Given the description of an element on the screen output the (x, y) to click on. 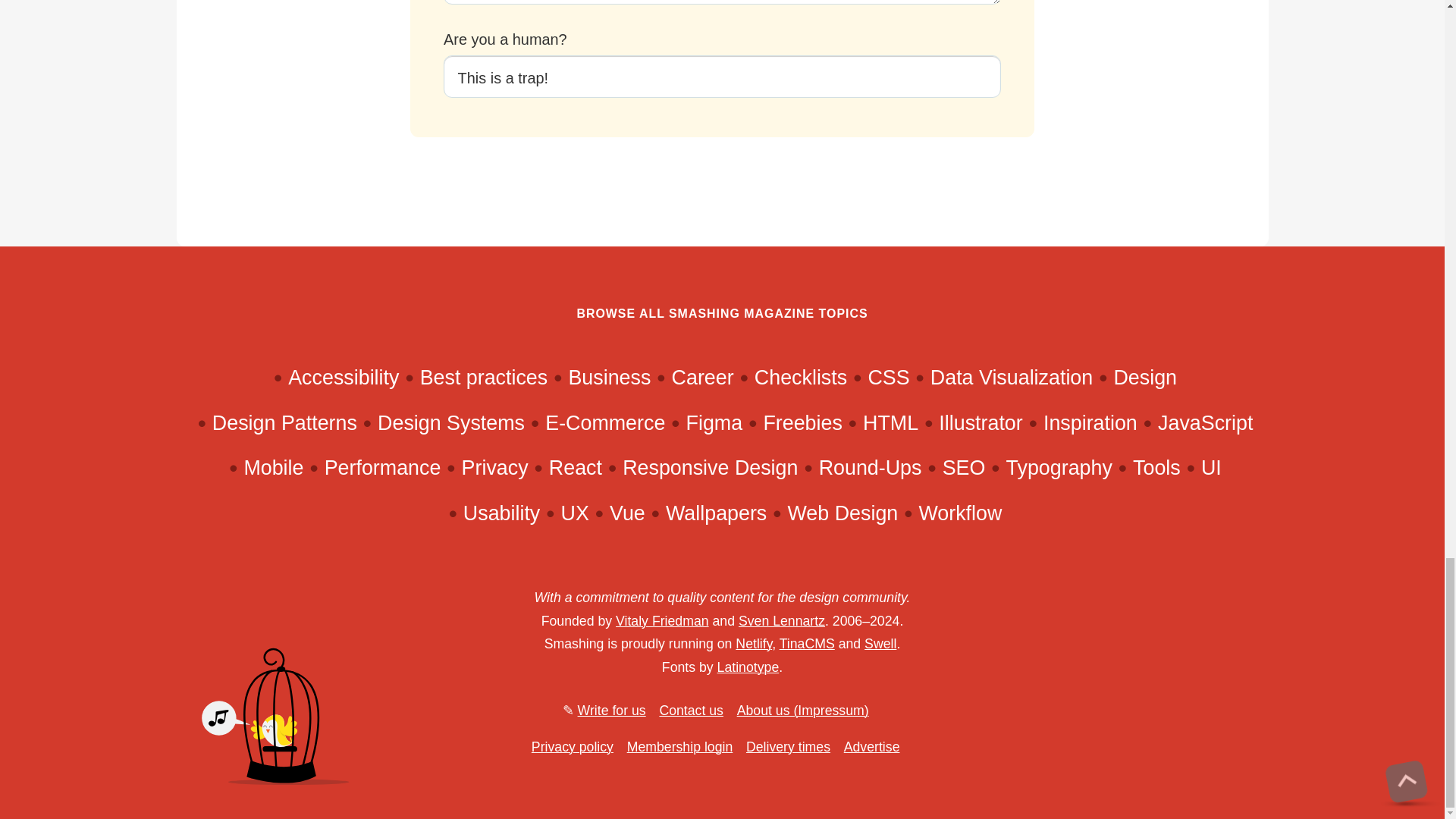
CSS (887, 377)
Checklists (800, 377)
Accessibility (343, 377)
Design (1144, 377)
Career (702, 377)
E-Commerce (604, 423)
This is a trap! (722, 76)
Design Patterns (284, 423)
Design Systems (450, 423)
Business (608, 377)
Data Visualization (1011, 377)
Best practices (484, 377)
